Given the description of an element on the screen output the (x, y) to click on. 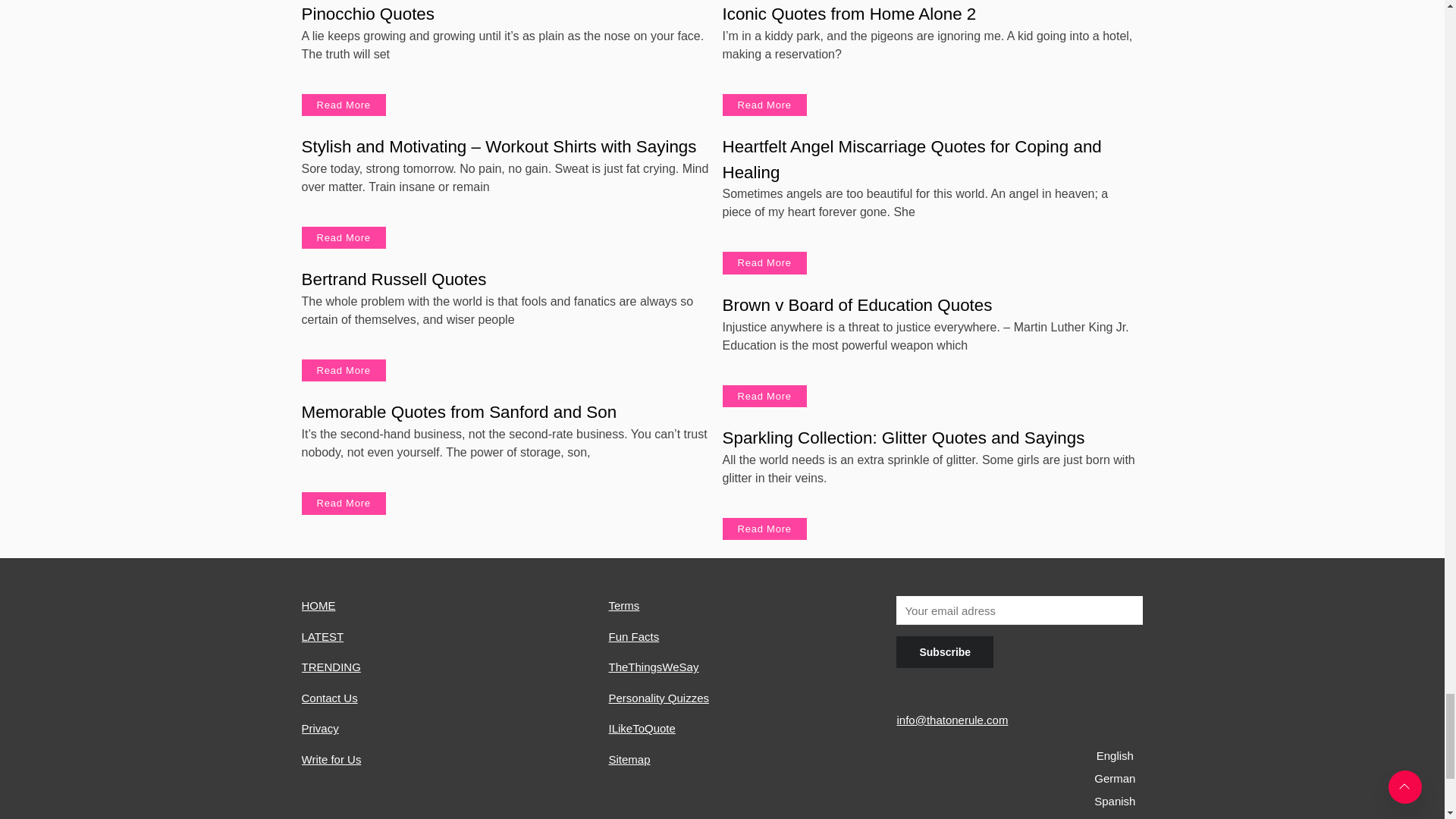
Subscribe (944, 652)
